Given the description of an element on the screen output the (x, y) to click on. 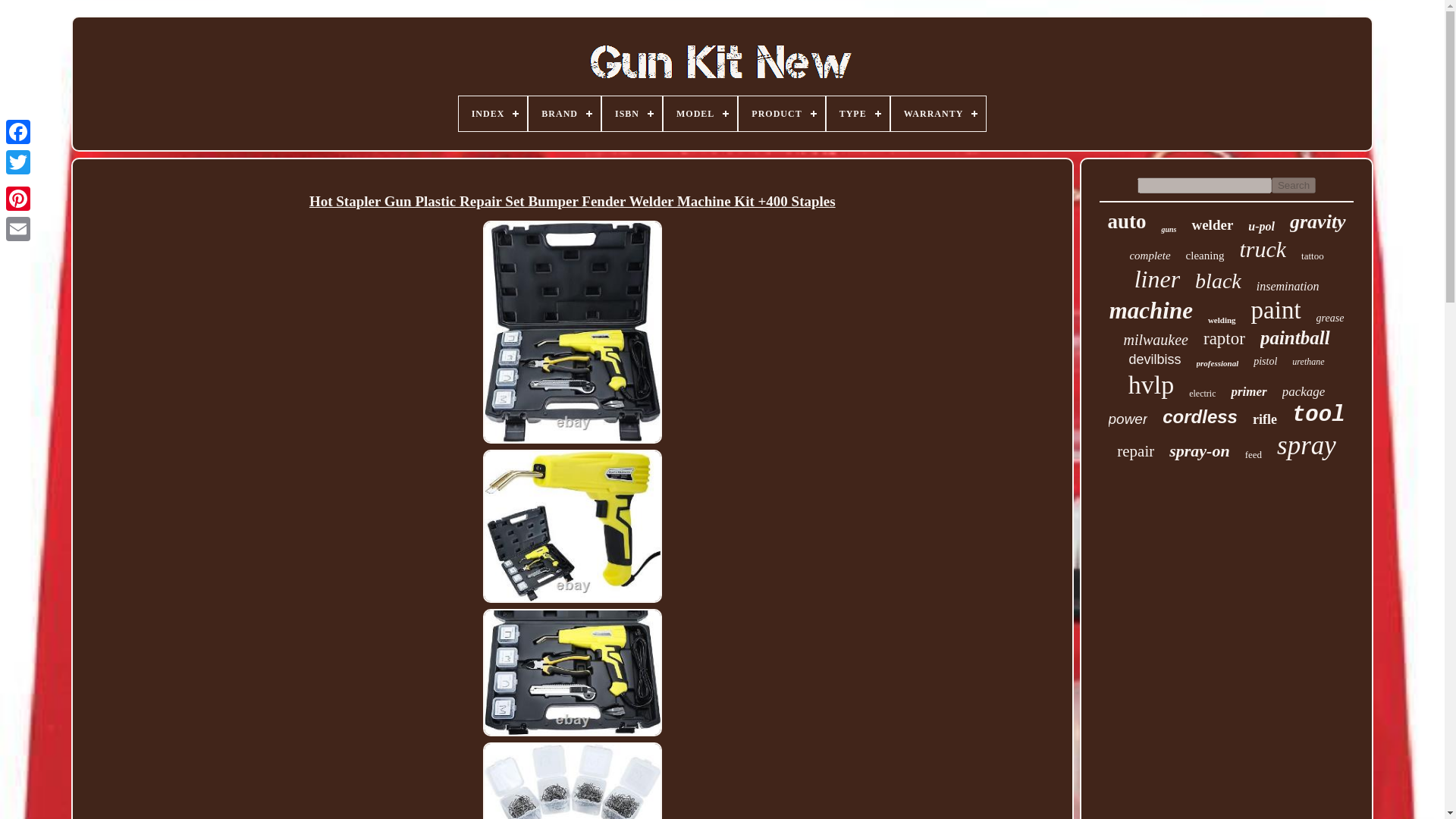
Facebook (17, 132)
BRAND (563, 113)
MODEL (699, 113)
INDEX (492, 113)
ISBN (632, 113)
Twitter (17, 162)
Search (1293, 185)
